Given the description of an element on the screen output the (x, y) to click on. 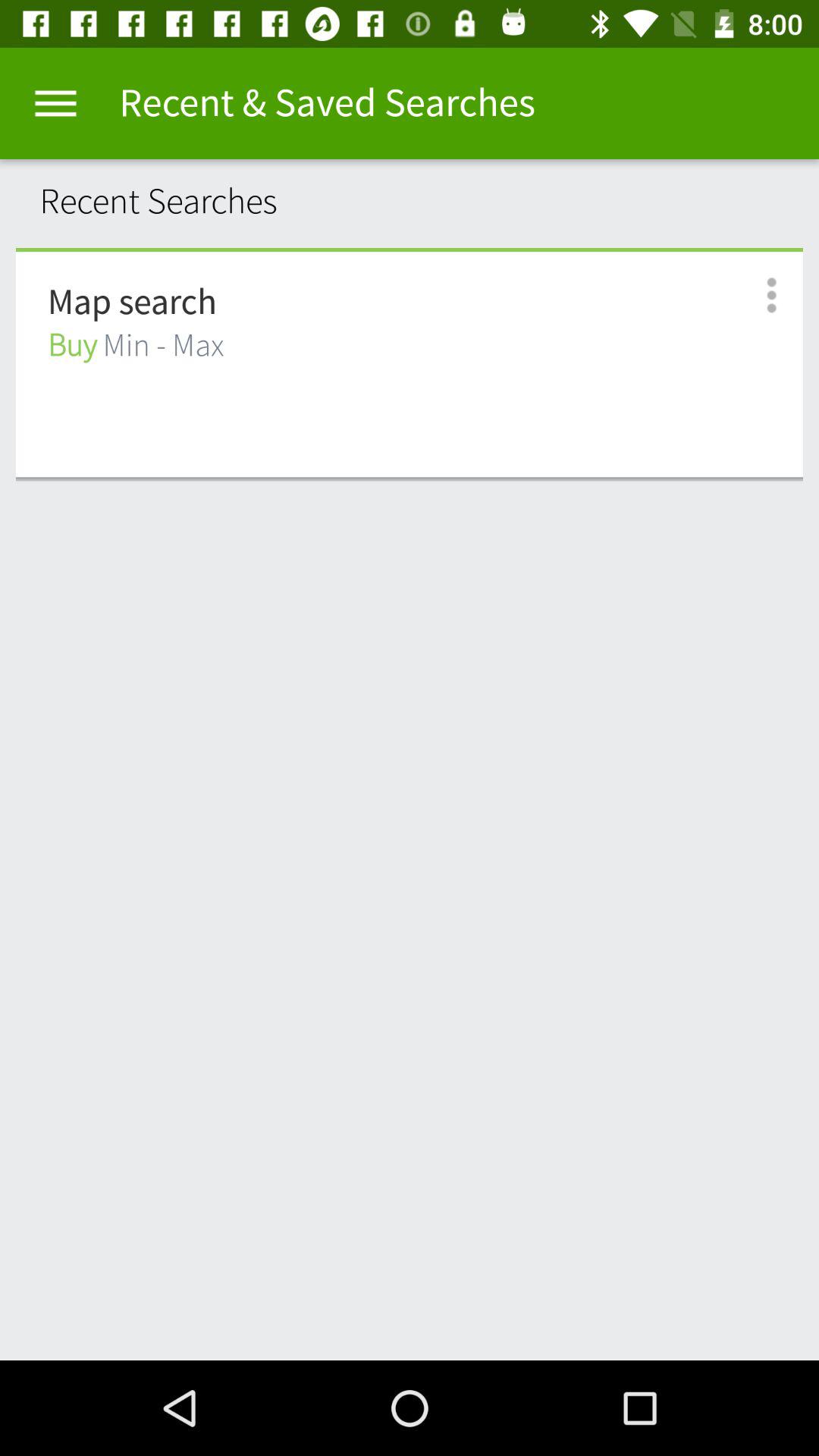
select the icon to the left of recent & saved searches (55, 103)
